Given the description of an element on the screen output the (x, y) to click on. 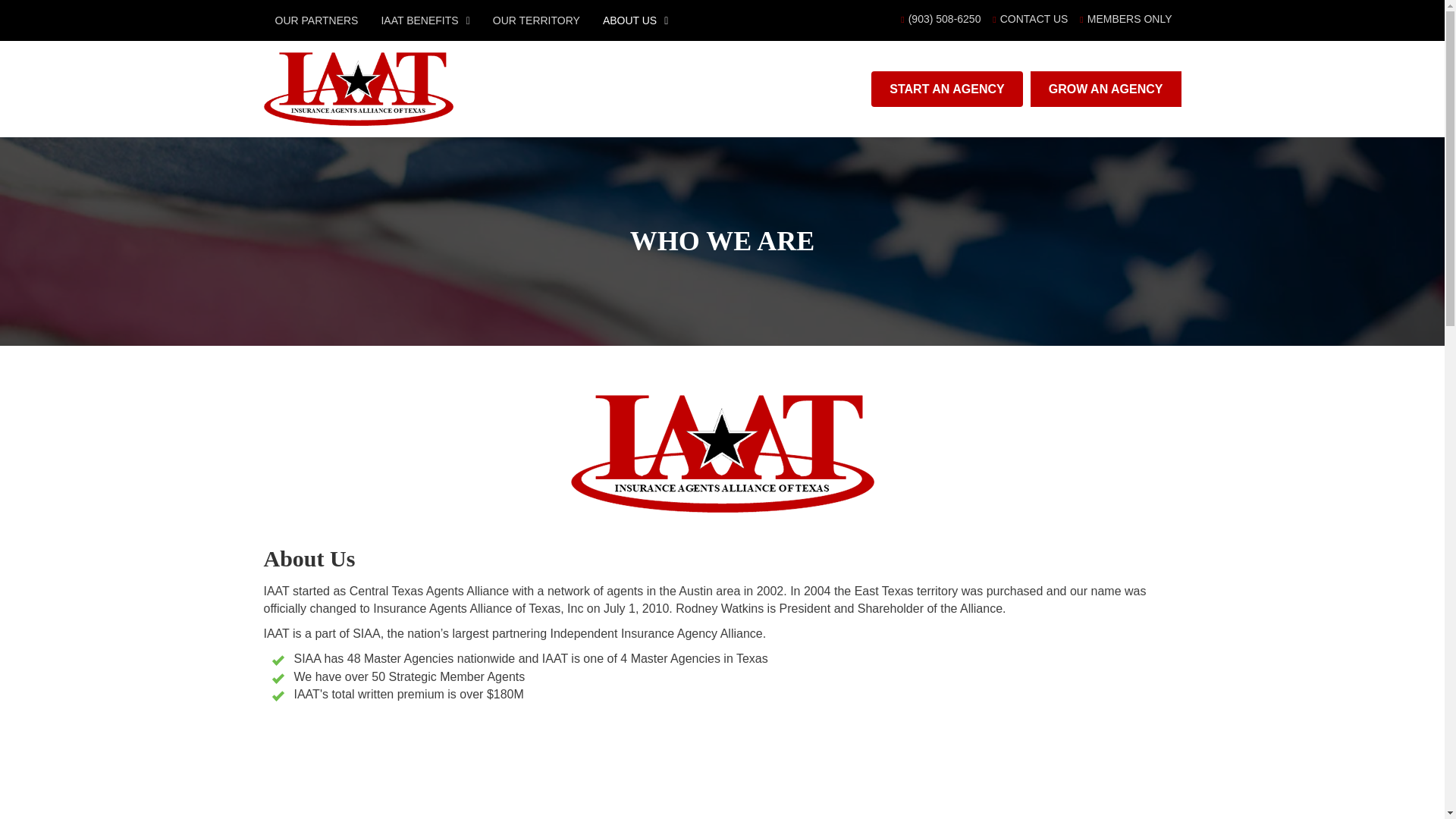
GROW AN AGENCY (1105, 89)
CONTACT US (1029, 19)
MEMBERS ONLY (1126, 19)
START AN AGENCY (946, 89)
ABOUT US (635, 20)
OUR PARTNERS (315, 20)
IAAT BENEFITS (424, 20)
OUR TERRITORY (536, 20)
